Given the description of an element on the screen output the (x, y) to click on. 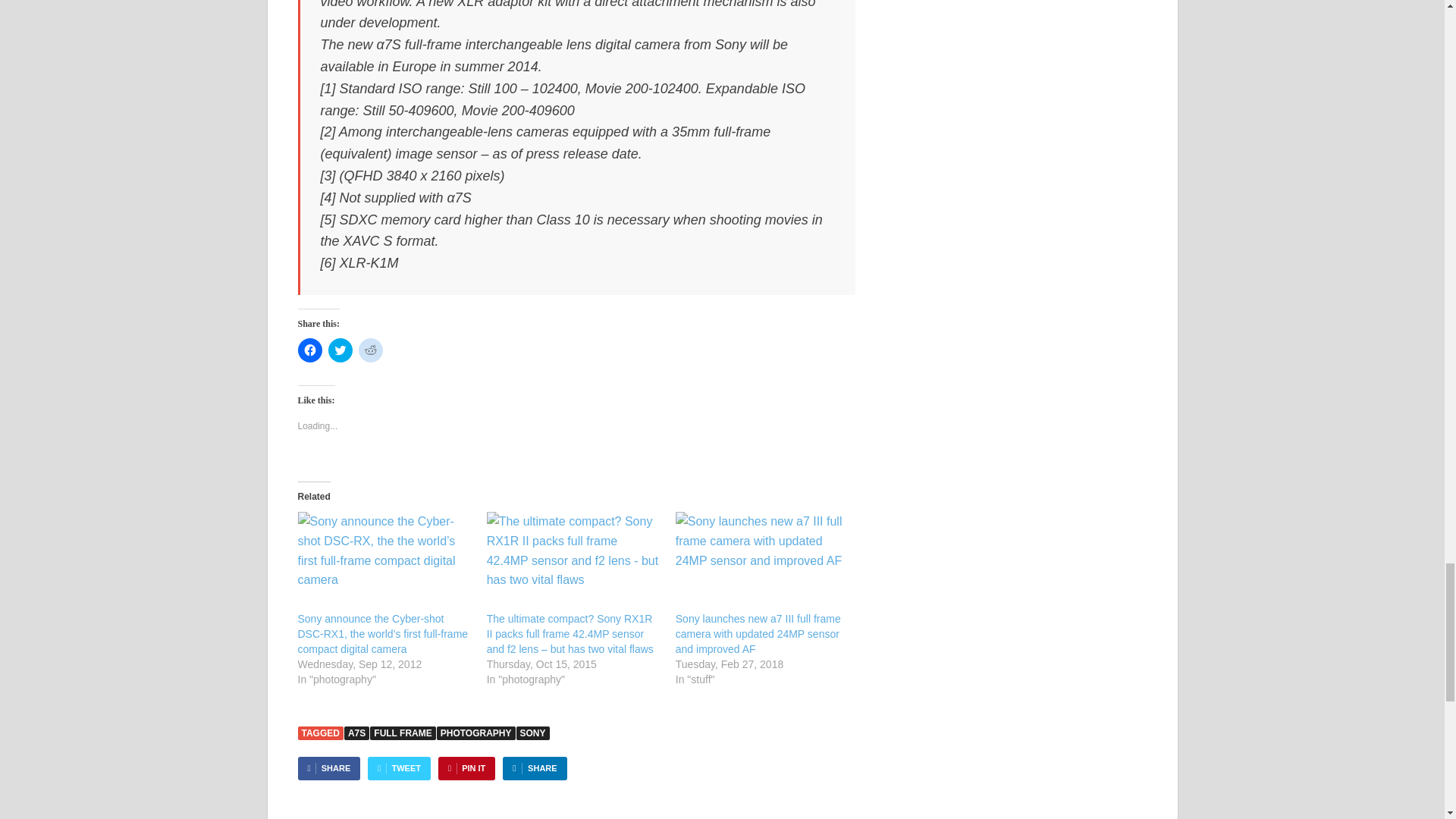
A7S (356, 733)
SHARE (328, 768)
Click to share on Twitter (339, 350)
PIN IT (466, 768)
Click to share on Facebook (309, 350)
PHOTOGRAPHY (475, 733)
Click to share on Reddit (369, 350)
FULL FRAME (402, 733)
SONY (533, 733)
SHARE (534, 768)
TWEET (399, 768)
